Given the description of an element on the screen output the (x, y) to click on. 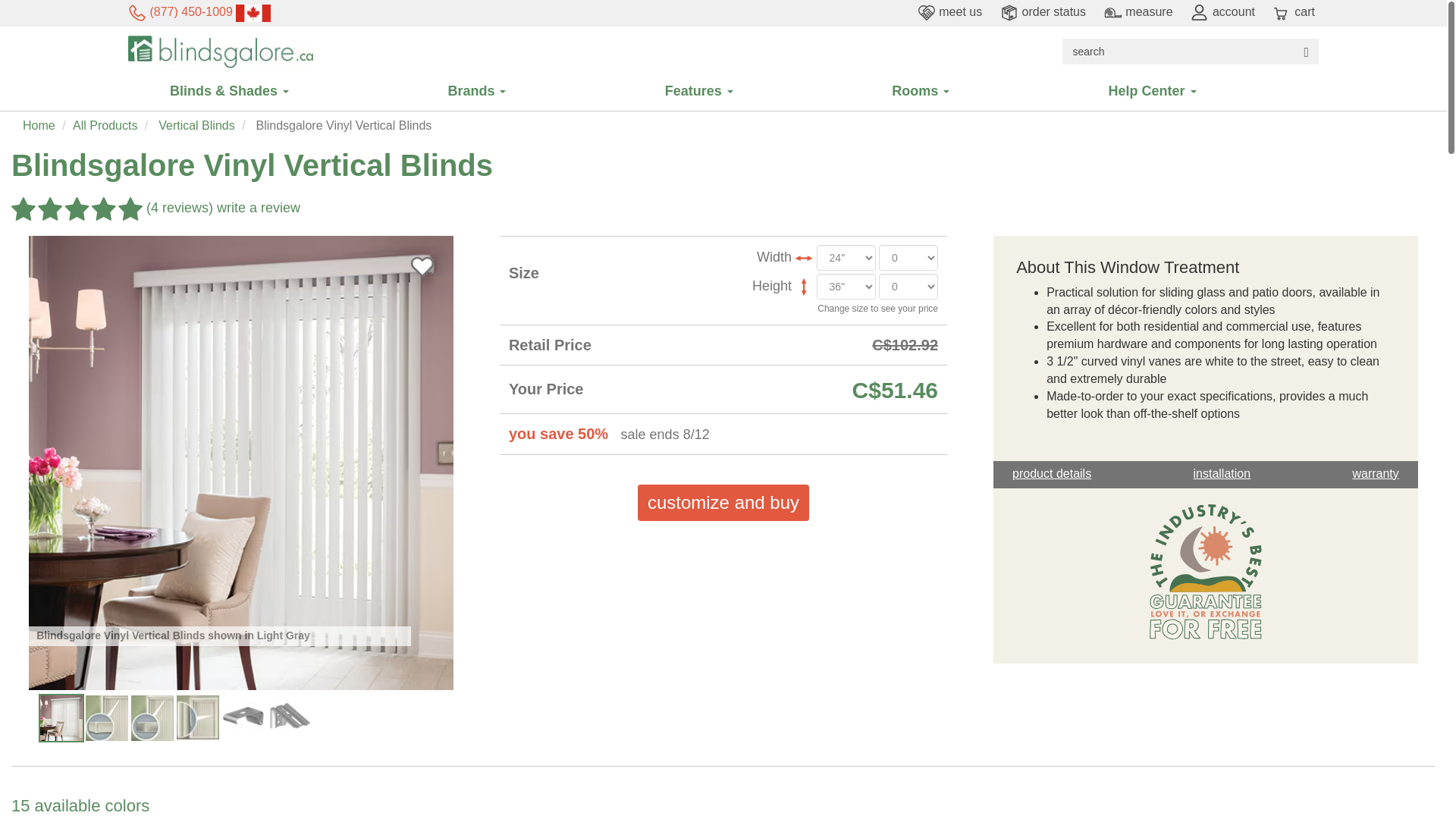
measure (1138, 11)
Order Status (1043, 11)
order status (1043, 11)
meet us (949, 11)
account (1222, 11)
Account (1222, 11)
Meet Us (949, 11)
Rooms (963, 91)
Brands (518, 91)
cart (1293, 11)
